Given the description of an element on the screen output the (x, y) to click on. 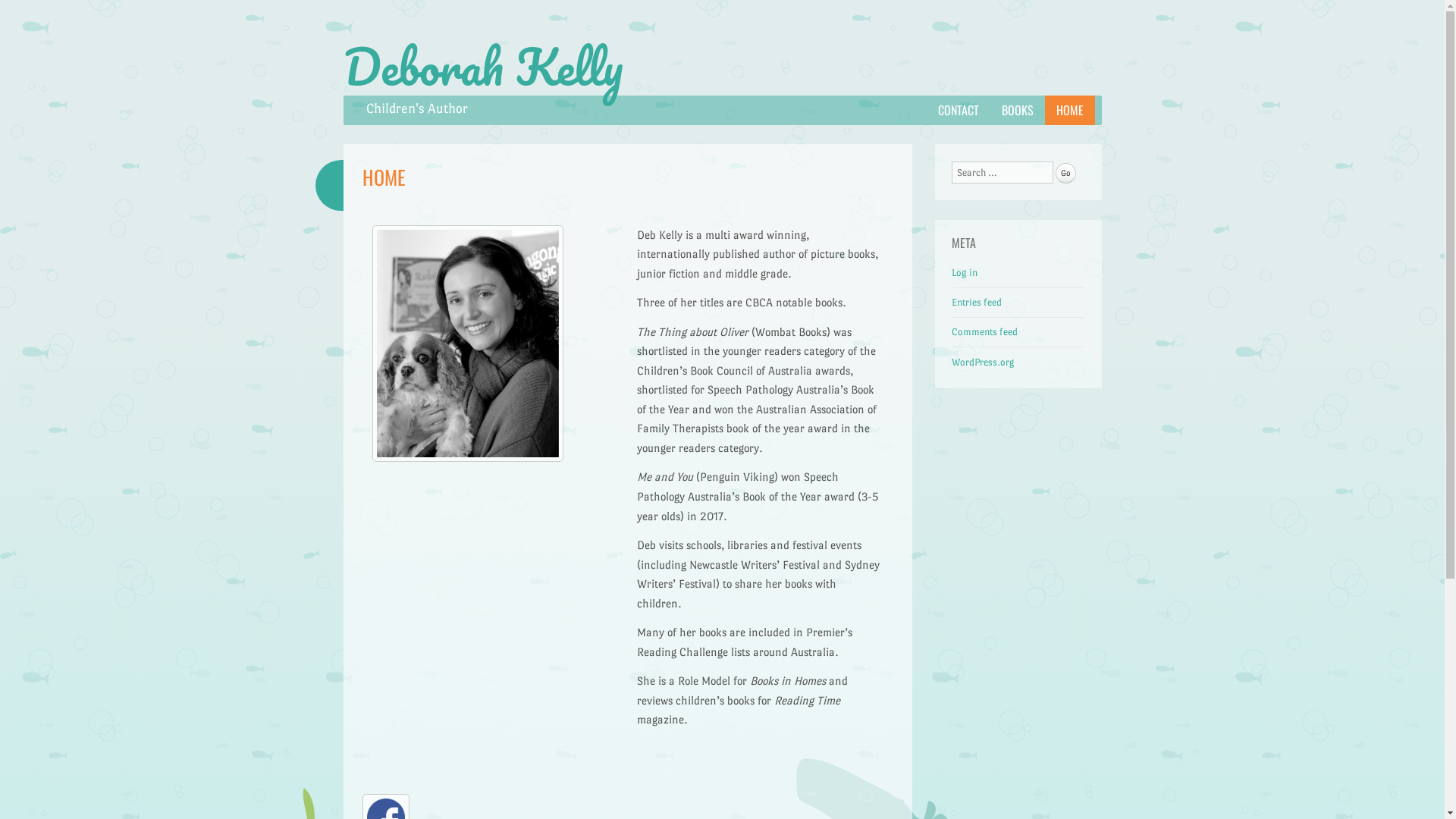
Log in Element type: text (964, 272)
Entries feed Element type: text (976, 301)
BOOKS Element type: text (1017, 109)
CONTACT Element type: text (958, 109)
HOME Element type: text (1069, 109)
Deborah Kelly Element type: text (481, 66)
Comments feed Element type: text (984, 331)
Skip to content Element type: text (379, 104)
Go Element type: text (1065, 173)
WordPress.org Element type: text (982, 361)
